Given the description of an element on the screen output the (x, y) to click on. 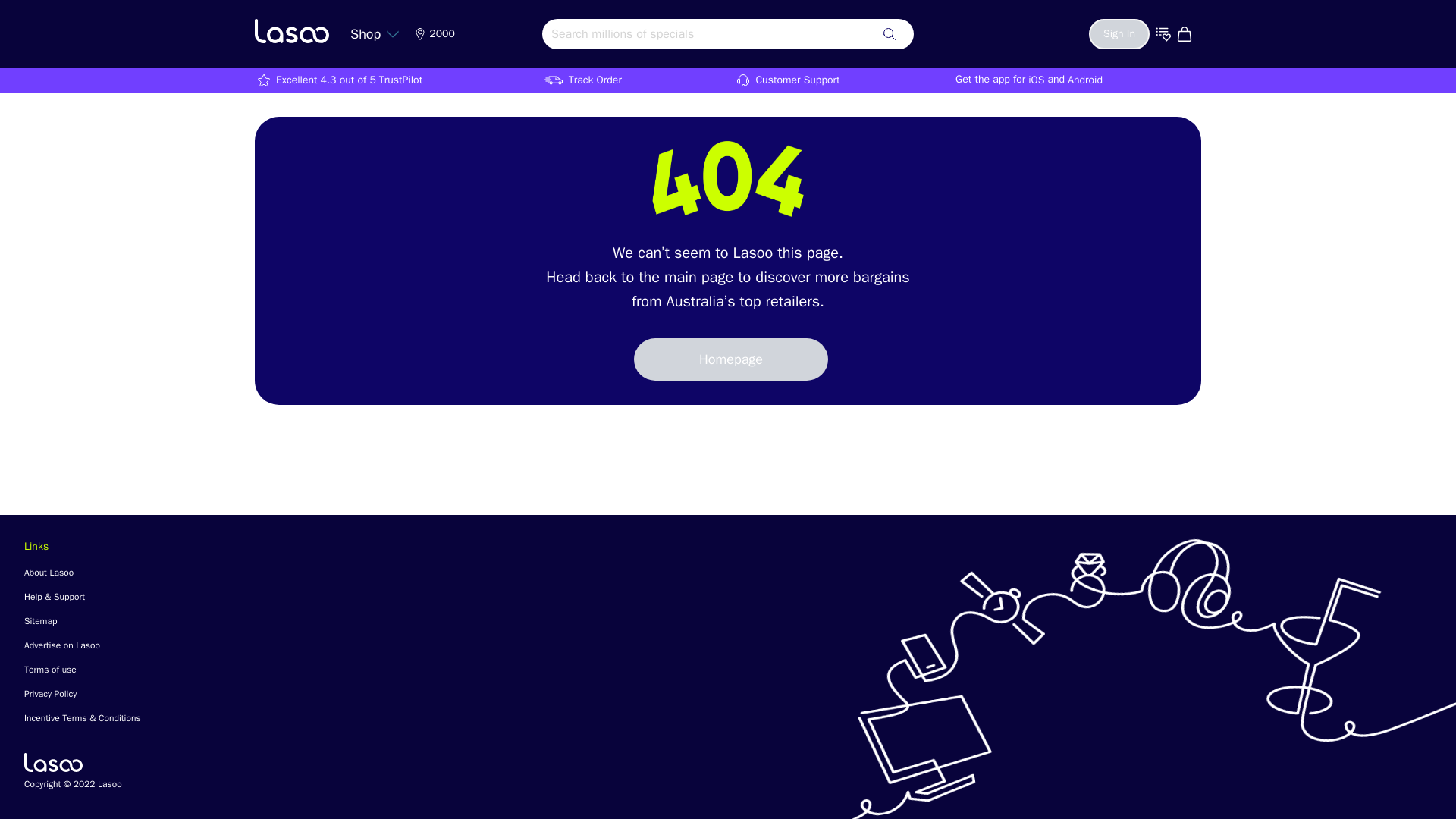
Lasoo (53, 762)
Go to wishlist (1163, 33)
Go to cart (1185, 33)
Shop (374, 33)
lasoo (291, 30)
Not found (727, 178)
